Given the description of an element on the screen output the (x, y) to click on. 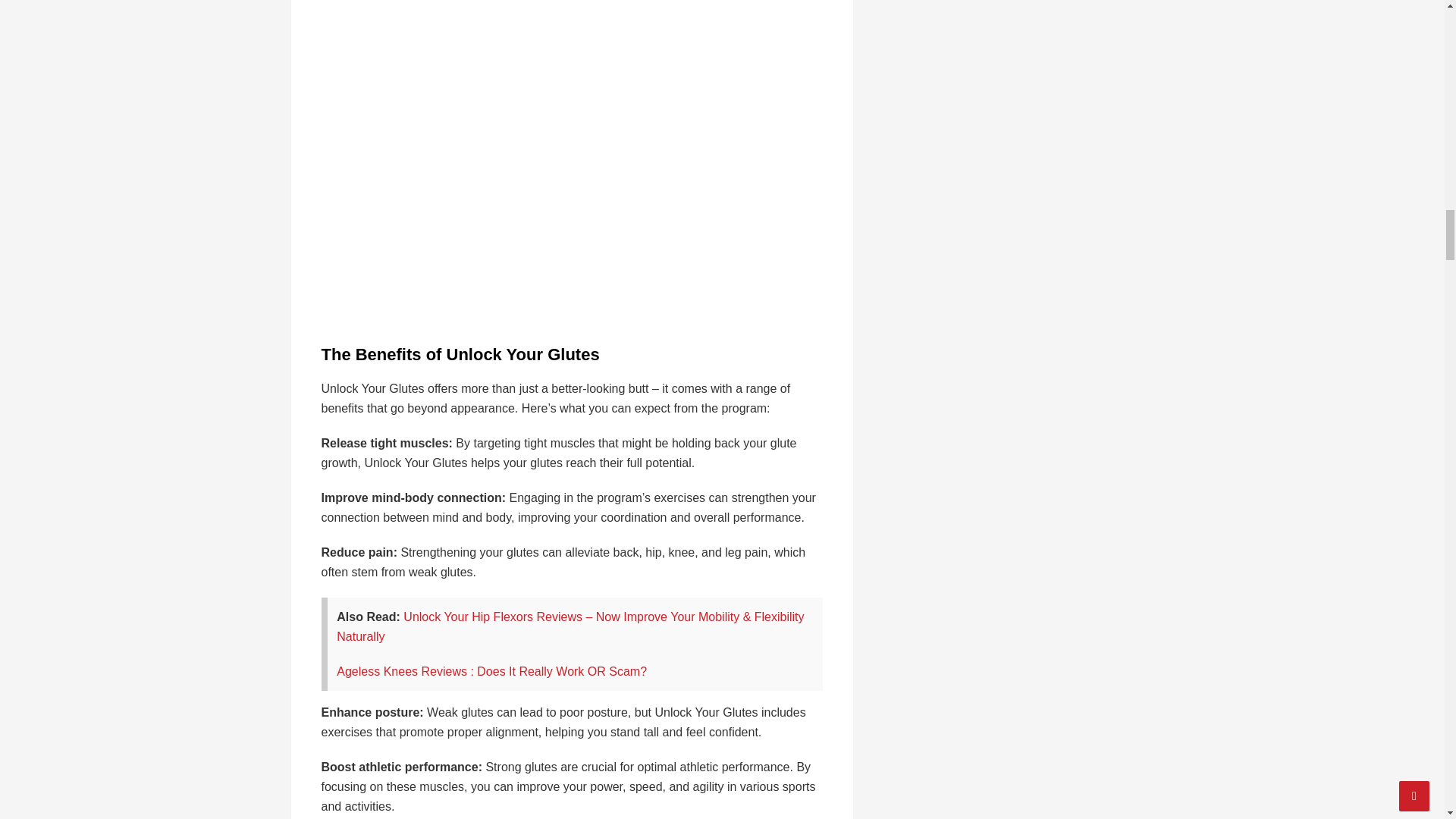
Ageless Knees Reviews : Does It Really Work OR Scam? (491, 671)
